Given the description of an element on the screen output the (x, y) to click on. 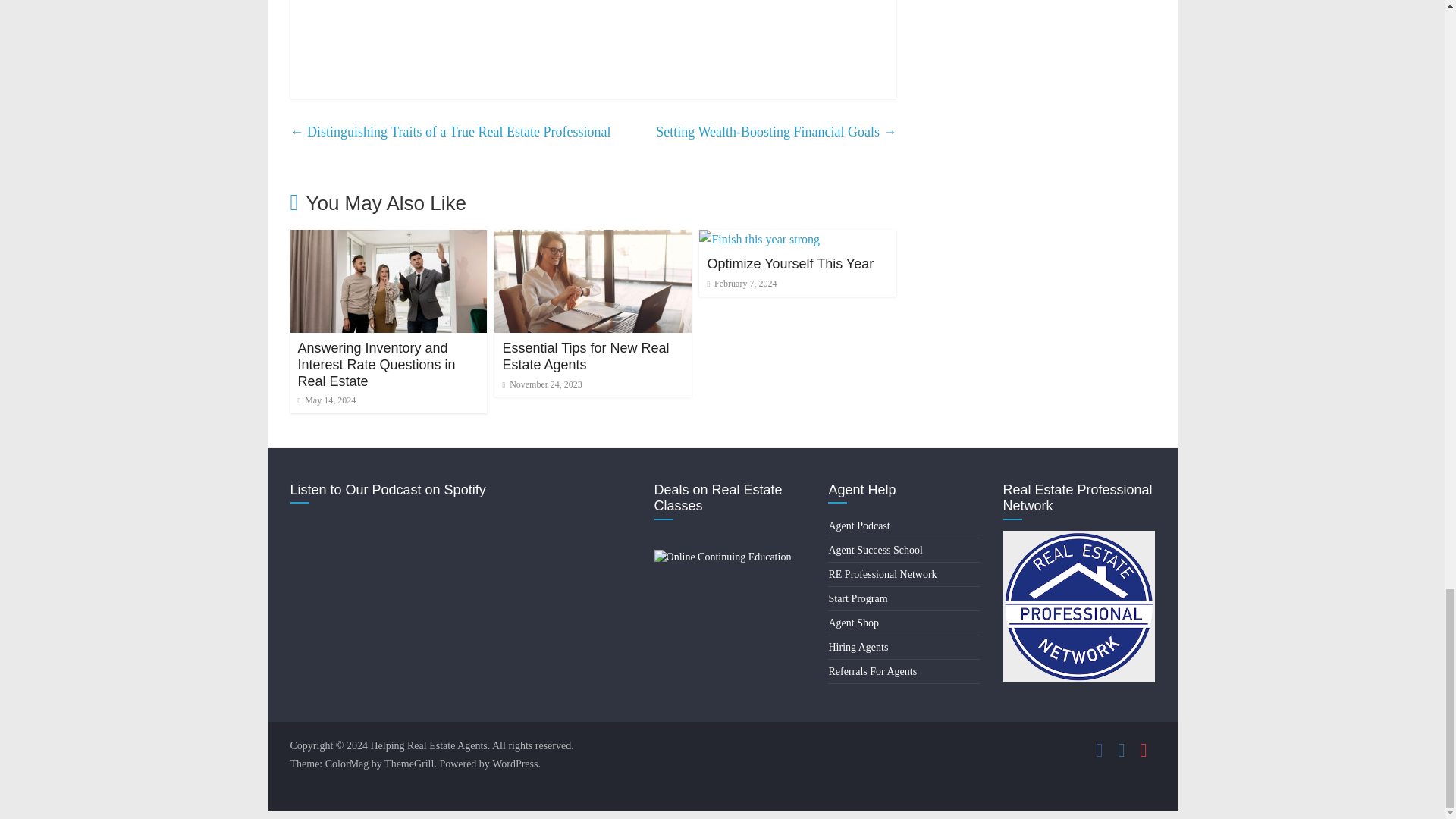
Essential Tips for New Real Estate Agents (585, 356)
February 7, 2024 (741, 283)
Optimize Yourself This Year (758, 238)
7:32 am (326, 399)
Essential Tips for New Real Estate Agents (593, 238)
12:00 pm (541, 384)
November 24, 2023 (541, 384)
Optimize Yourself This Year (789, 263)
